Given the description of an element on the screen output the (x, y) to click on. 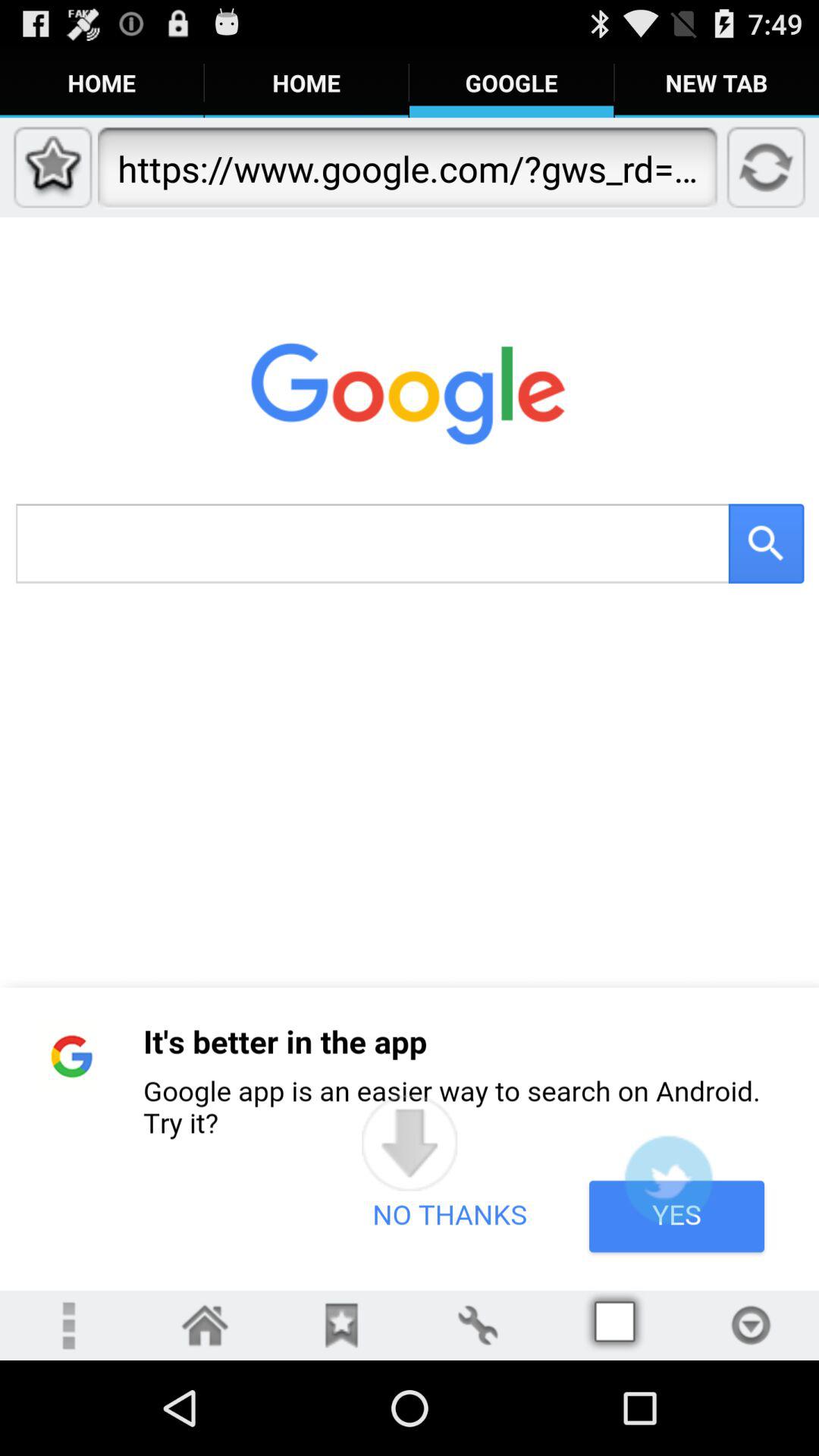
go home (204, 1325)
